Given the description of an element on the screen output the (x, y) to click on. 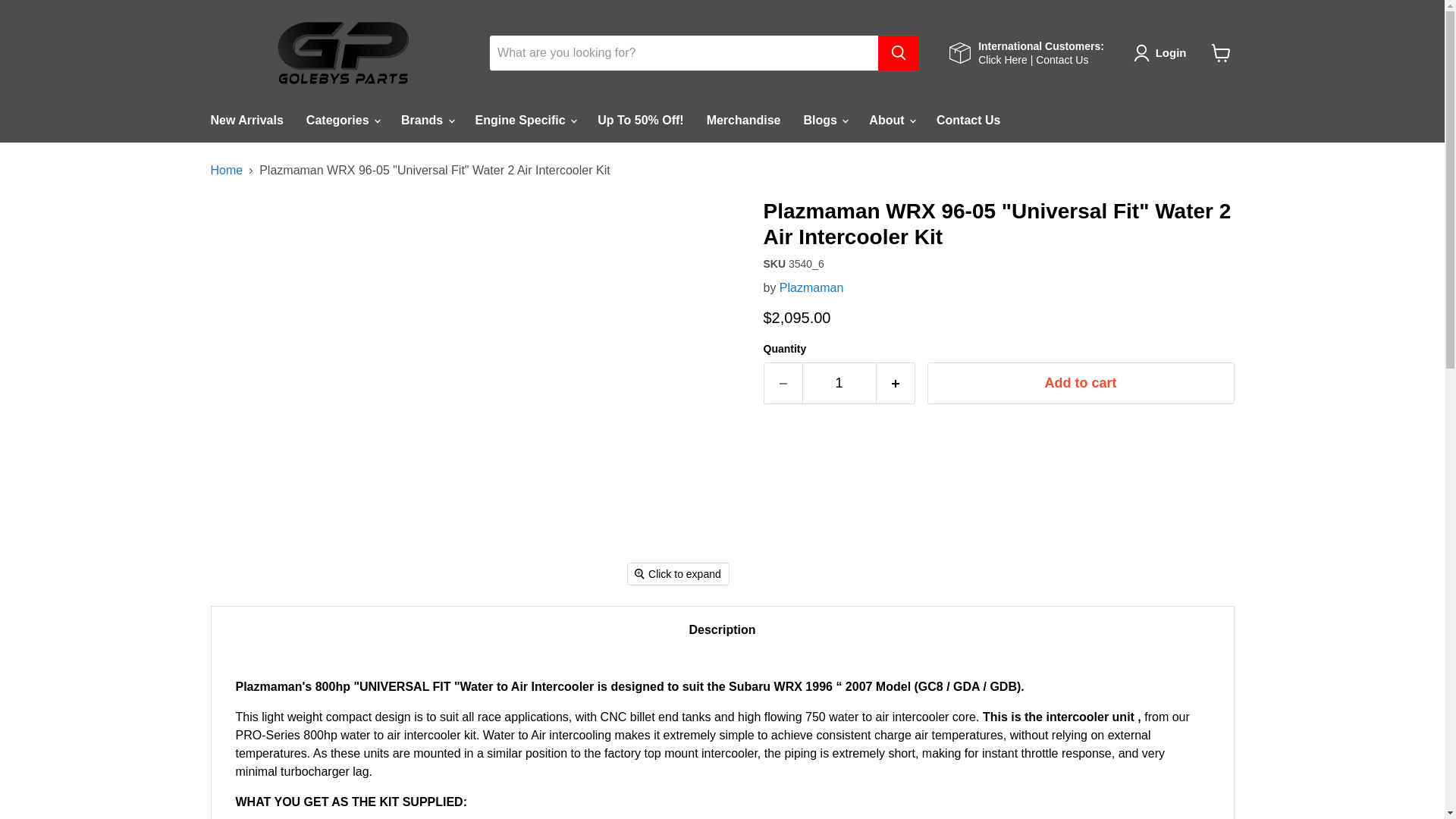
1 (839, 383)
New Arrivals (246, 120)
Login (1163, 53)
View cart (1221, 52)
Plazmaman (810, 287)
